Given the description of an element on the screen output the (x, y) to click on. 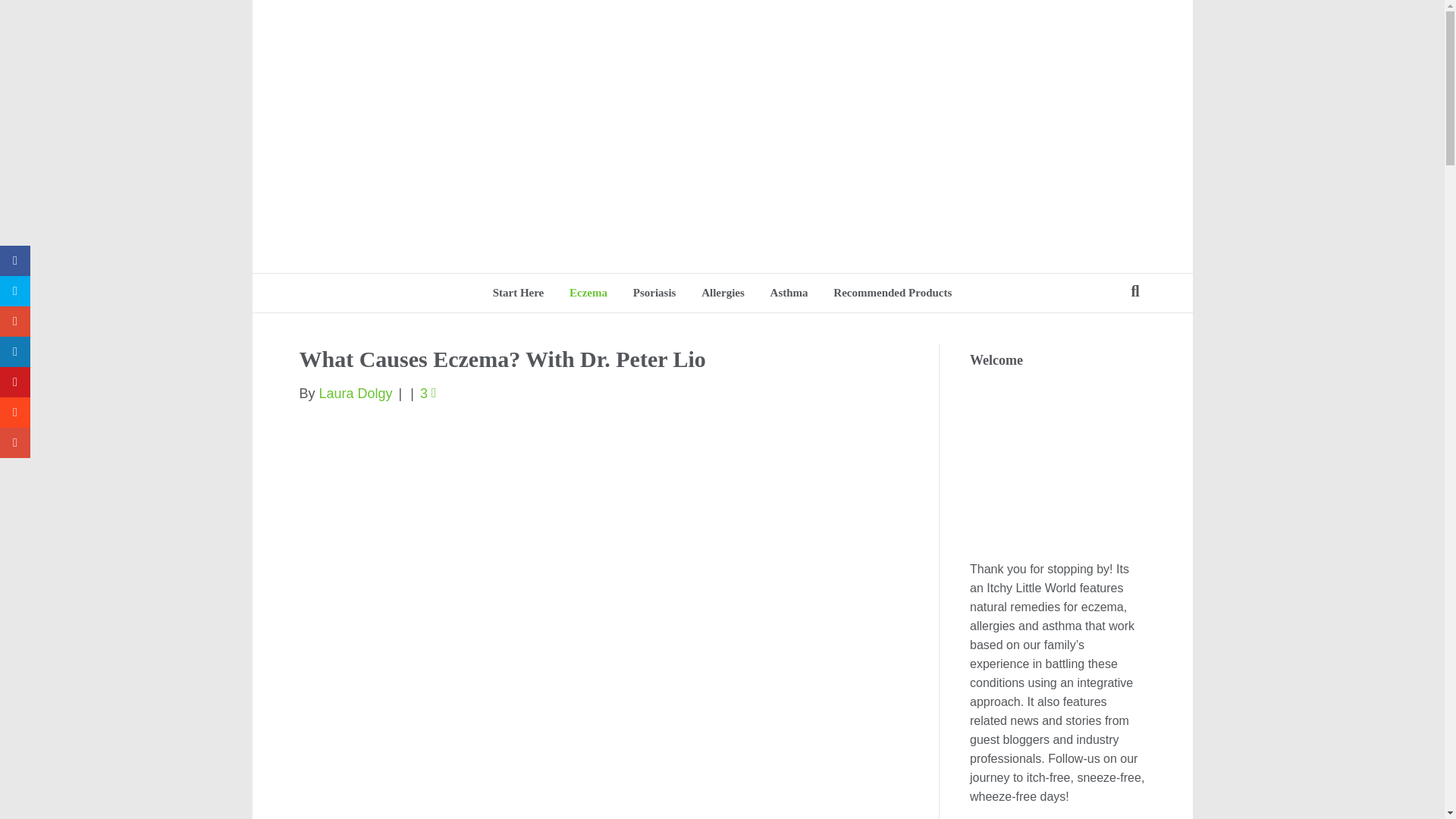
Start Here (518, 292)
Allergies (722, 292)
Psoriasis (654, 292)
Laura Dolgy (355, 393)
Asthma (788, 292)
Recommended Products (892, 292)
3 (428, 393)
Eczema (587, 292)
